Given the description of an element on the screen output the (x, y) to click on. 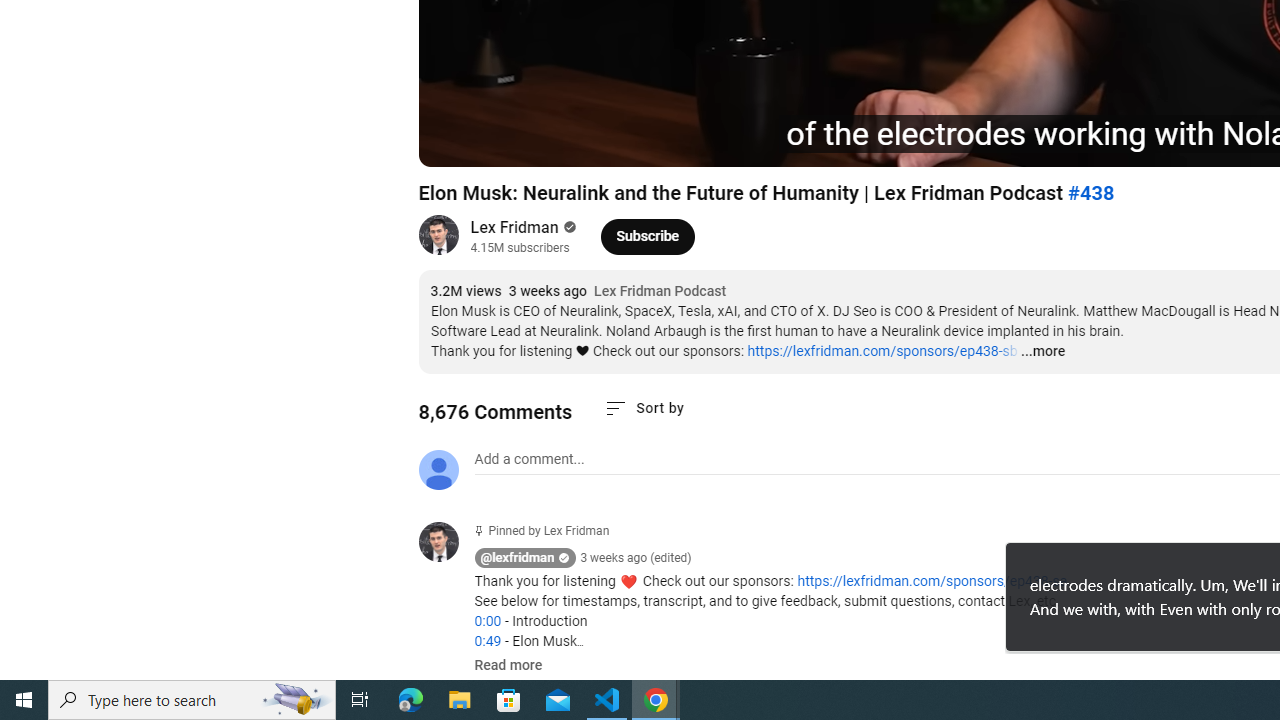
Elon Musk (708, 142)
https://lexfridman.com/sponsors/ep438-sa (932, 581)
Lex Fridman Podcast (660, 291)
Subscribe to Lex Fridman. (648, 236)
Mute (m) (548, 142)
#438 (1090, 193)
